Given the description of an element on the screen output the (x, y) to click on. 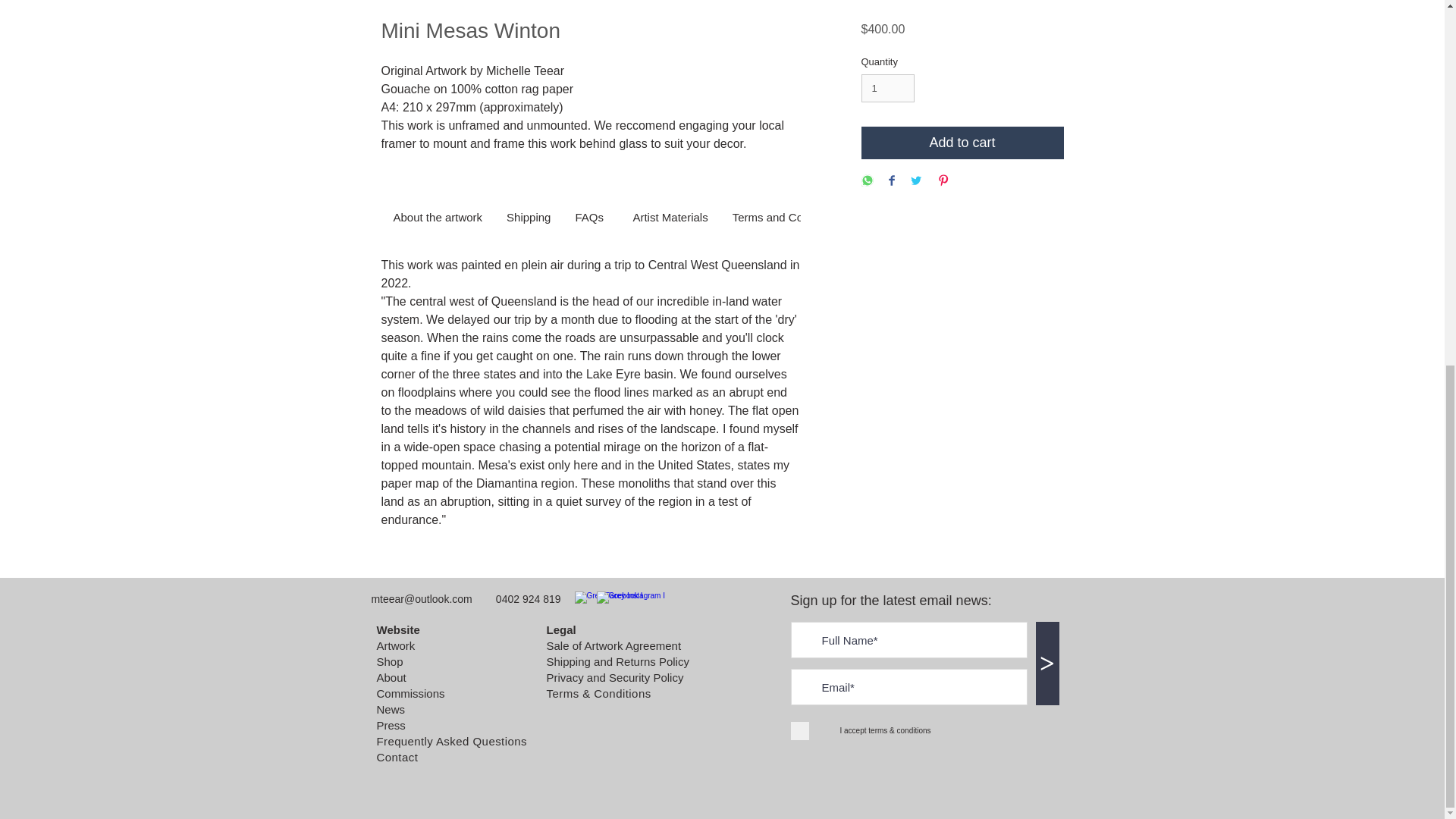
Artwork (394, 645)
Shipping and Returns Policy (617, 661)
Add to cart (962, 142)
Shop (389, 661)
Privacy and Security Policy (614, 676)
Use right and left arrows to navigate between tabs (528, 217)
Use right and left arrows to navigate between tabs (591, 217)
Frequently Asked Questions (451, 740)
1 (888, 88)
Contact (396, 757)
Sale of Artwork Agreement (613, 645)
Commissions (409, 693)
Use right and left arrows to navigate between tabs (787, 217)
Use right and left arrows to navigate between tabs (437, 217)
Use right and left arrows to navigate between tabs (669, 217)
